Given the description of an element on the screen output the (x, y) to click on. 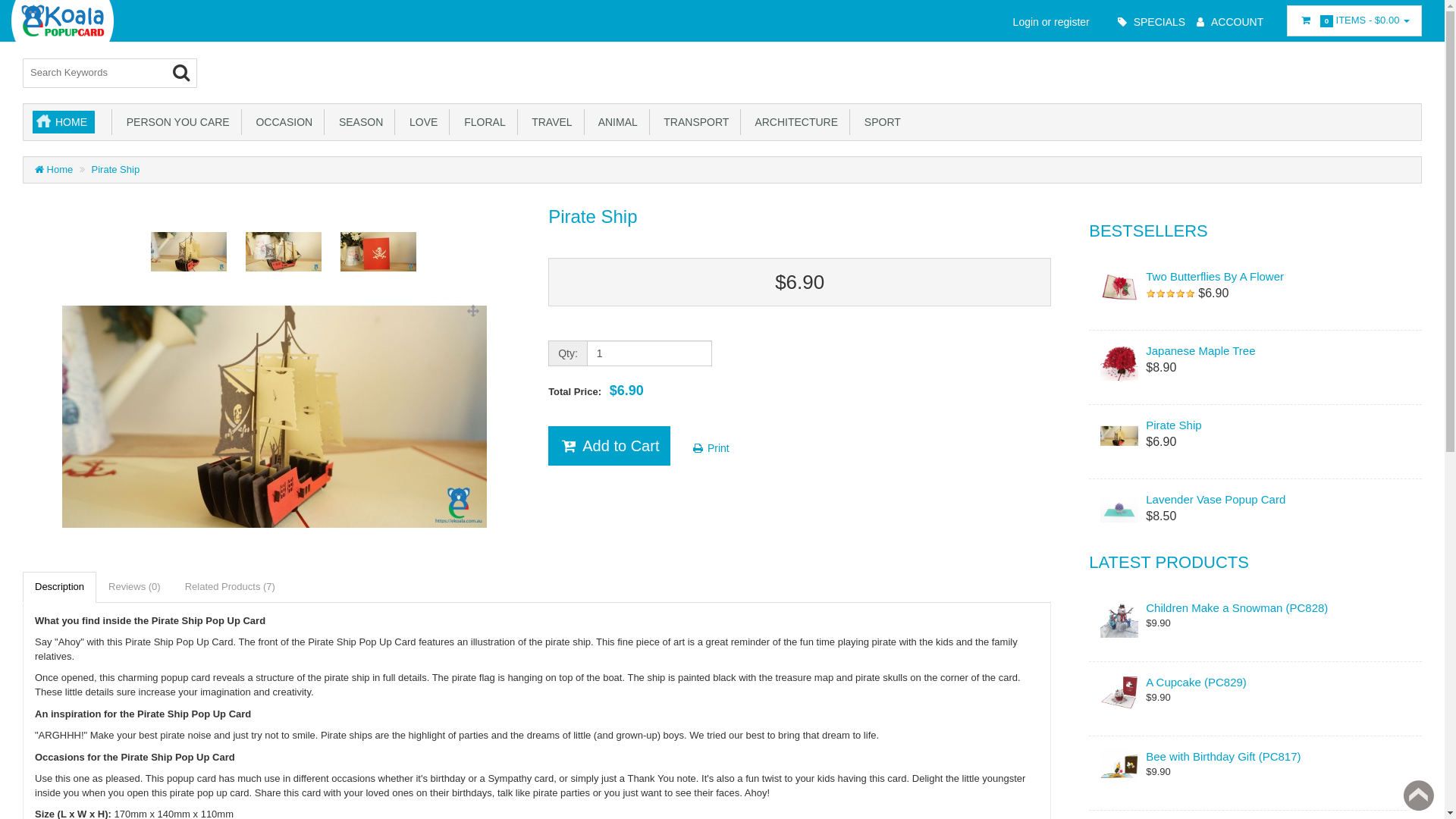
Login or register Element type: text (1047, 21)
Reviews (0) Element type: text (134, 586)
  SPORT Element type: text (881, 121)
Add to Cart Element type: text (609, 445)
Two Butterflies By A Flower Element type: text (1255, 276)
   0 ITEMS - $0.00 Element type: text (1354, 20)
Print Element type: text (709, 448)
 ACCOUNT Element type: text (1227, 21)
  SEASON Element type: text (359, 121)
eKoala 3D Popup Card Element type: hover (62, 20)
A Cupcake (PC829) Element type: text (1255, 682)
  OCCASION Element type: text (283, 121)
Related Products (7) Element type: text (229, 586)
Go Element type: hover (180, 72)
Home Element type: text (53, 169)
Children Make a Snowman (PC828) Element type: text (1255, 607)
  ARCHITECTURE Element type: text (795, 121)
Bee with Birthday Gift (PC817) Element type: text (1255, 756)
  LOVE Element type: text (422, 121)
  ANIMAL Element type: text (617, 121)
Lavender Vase Popup Card Element type: text (1255, 499)
Pirate Ship Element type: text (1255, 425)
Home Element type: hover (38, 169)
  TRANSPORT Element type: text (695, 121)
Back to top Element type: text (1418, 795)
Description Element type: text (59, 586)
 SPECIALS Element type: text (1149, 21)
HOME Element type: text (63, 121)
  TRAVEL Element type: text (551, 121)
Japanese Maple Tree Element type: text (1255, 350)
  FLORAL Element type: text (483, 121)
Pirate Ship Element type: text (115, 169)
  PERSON YOU CARE Element type: text (176, 121)
